Given the description of an element on the screen output the (x, y) to click on. 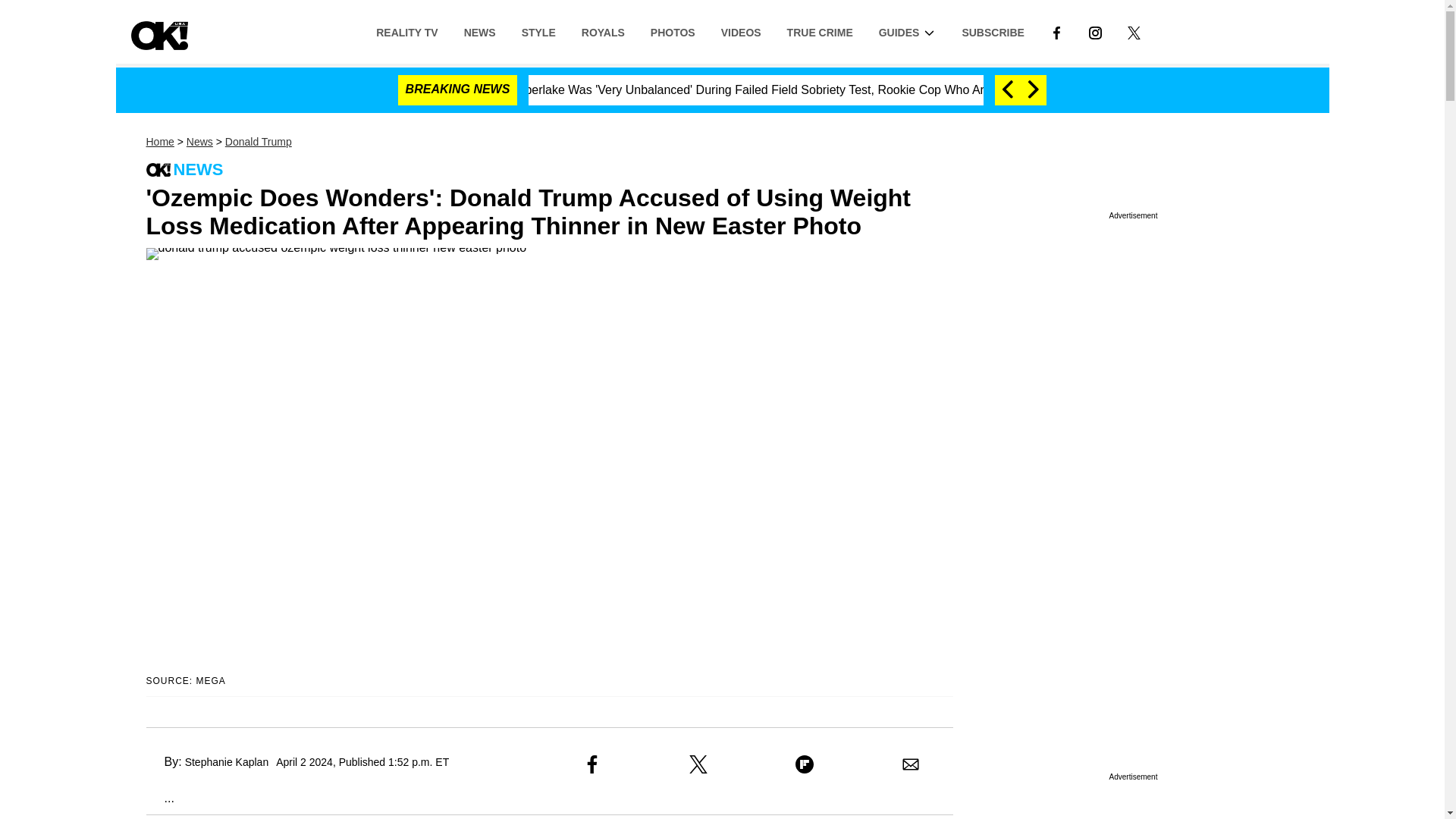
NEWS (479, 31)
TRUE CRIME (820, 31)
Link to Instagram (1095, 31)
LINK TO INSTAGRAM (1095, 31)
LINK TO INSTAGRAM (1095, 32)
ROYALS (603, 31)
Donald Trump (258, 141)
REALITY TV (405, 31)
LINK TO X (1134, 31)
Home (159, 141)
